Given the description of an element on the screen output the (x, y) to click on. 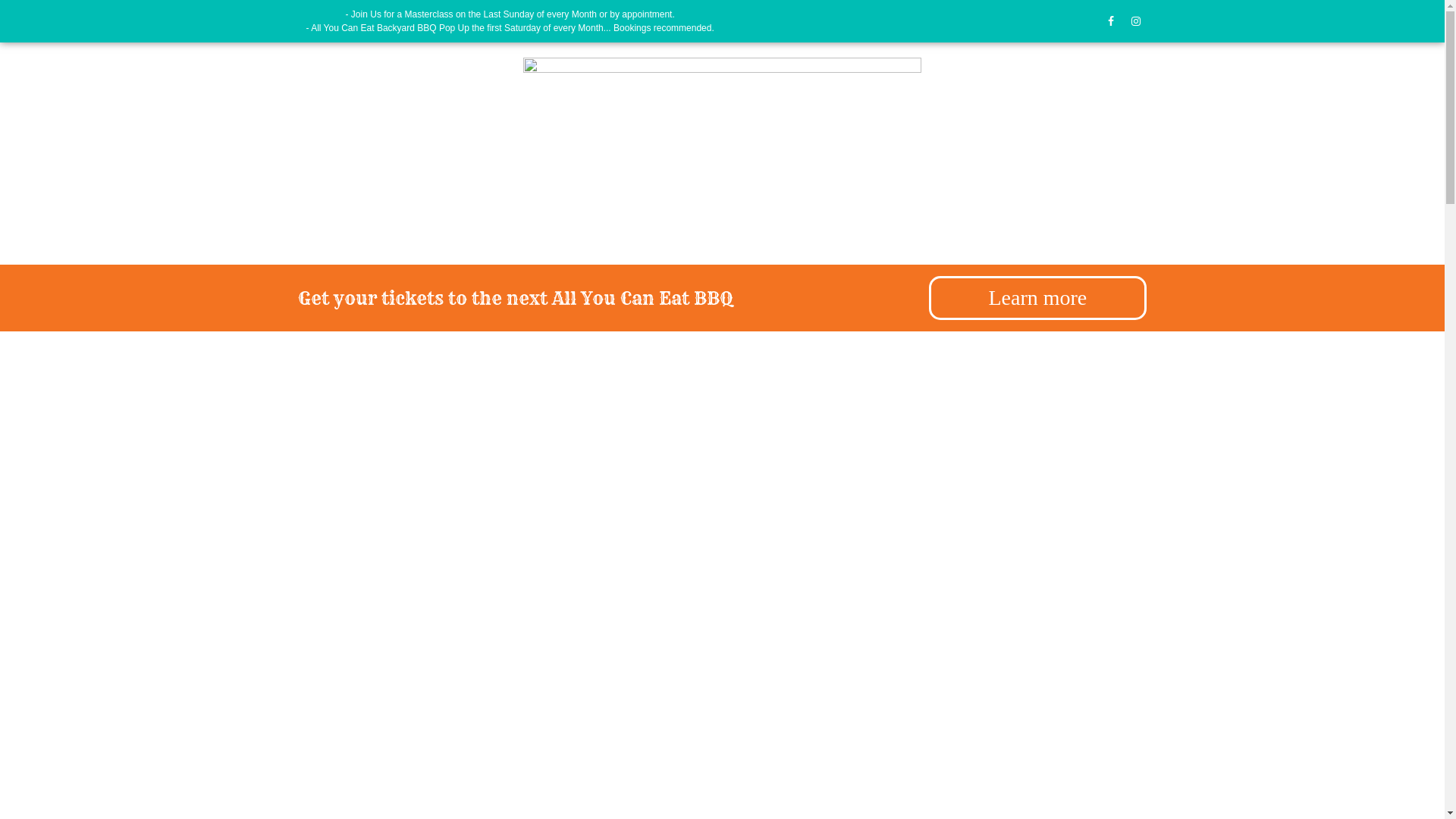
Learn more Element type: text (1037, 298)
